Given the description of an element on the screen output the (x, y) to click on. 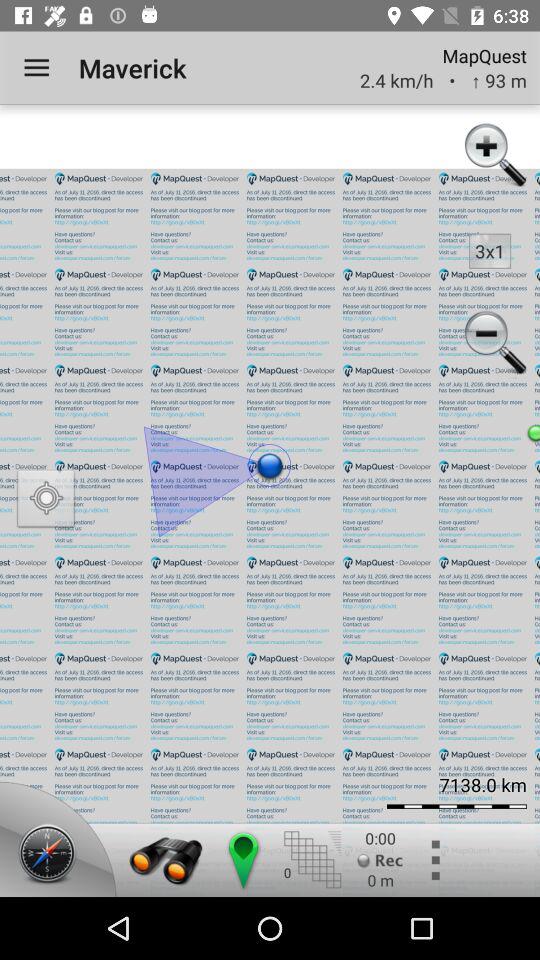
start recording current driving route (380, 860)
